Given the description of an element on the screen output the (x, y) to click on. 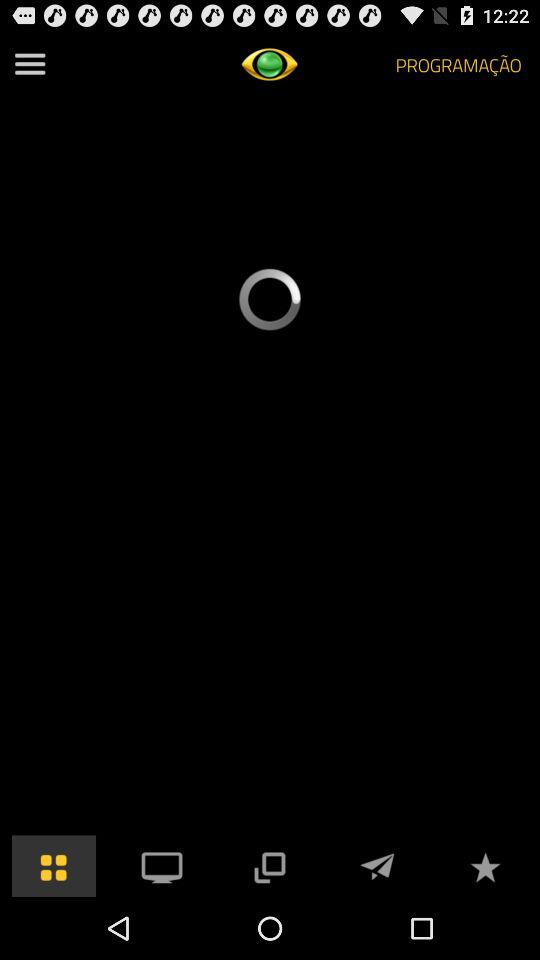
menu selection (162, 865)
